Given the description of an element on the screen output the (x, y) to click on. 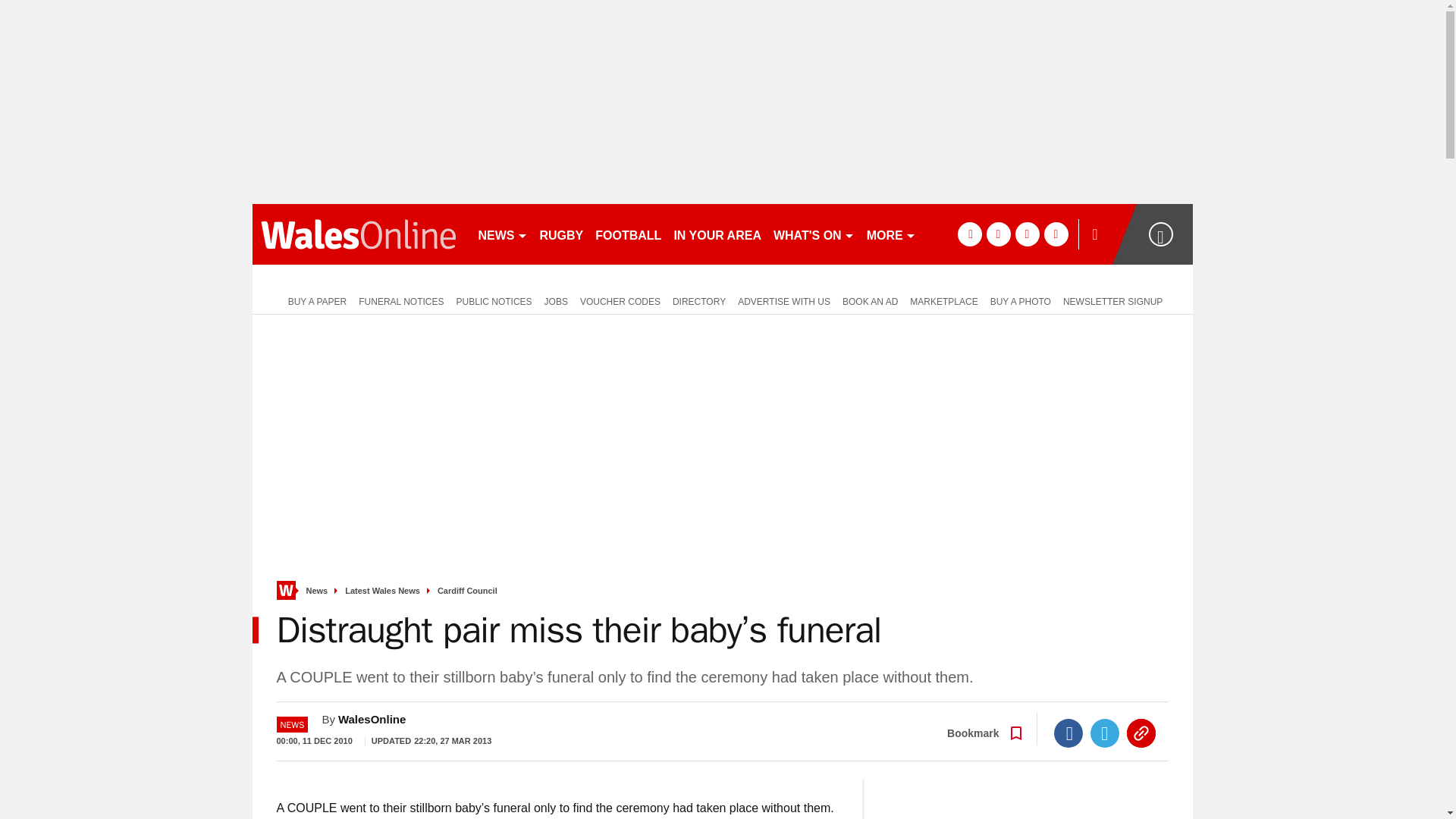
WHAT'S ON (813, 233)
IN YOUR AREA (716, 233)
FOOTBALL (627, 233)
Facebook (1068, 733)
instagram (1055, 233)
Twitter (1104, 733)
facebook (968, 233)
MORE (890, 233)
RUGBY (561, 233)
twitter (997, 233)
